Given the description of an element on the screen output the (x, y) to click on. 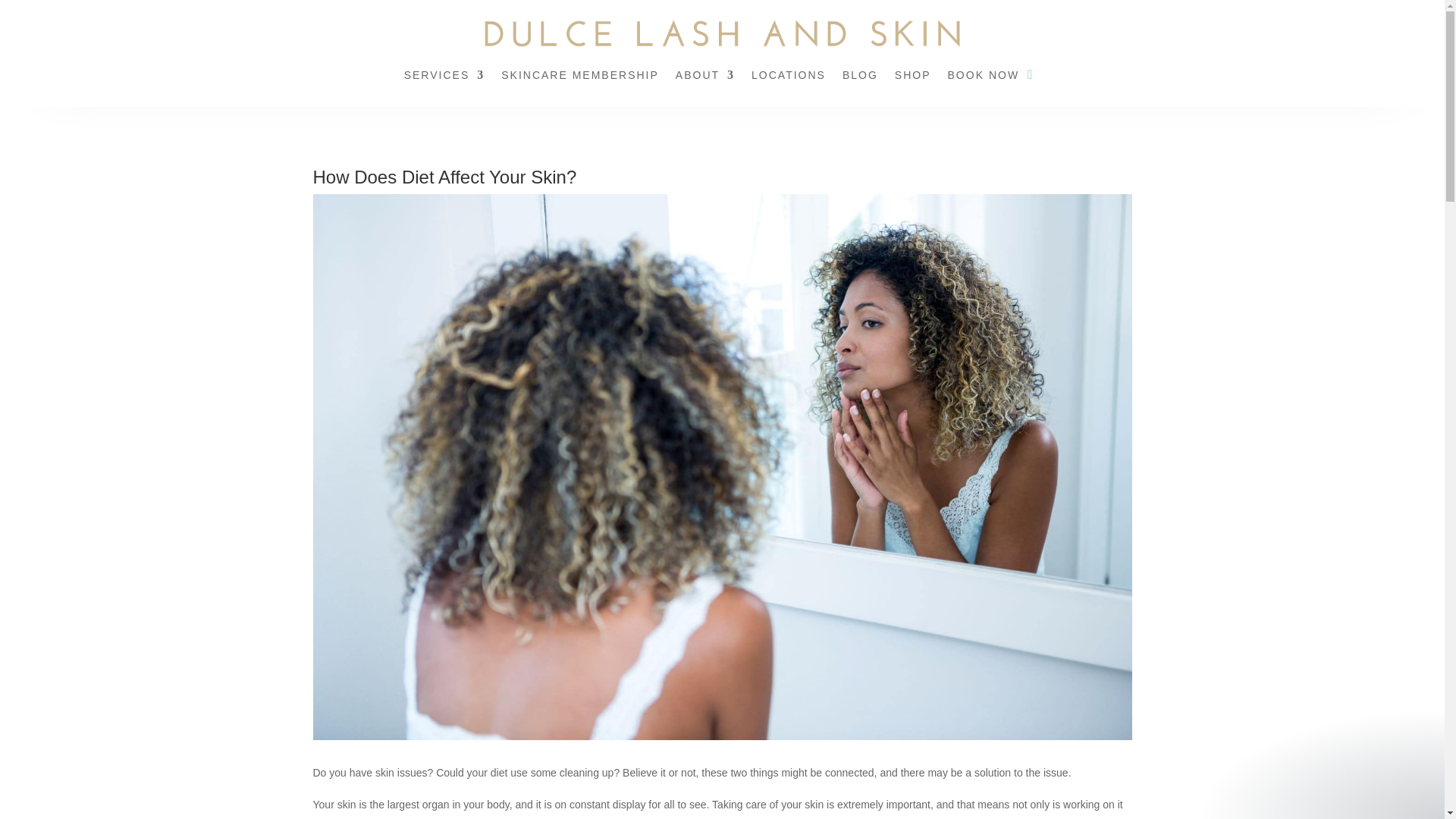
SHOP (913, 77)
BLOG (860, 77)
BOOK NOW (983, 77)
newlogo (721, 33)
LOCATIONS (788, 77)
SERVICES (444, 77)
ABOUT (705, 77)
SKINCARE MEMBERSHIP (579, 77)
